Given the description of an element on the screen output the (x, y) to click on. 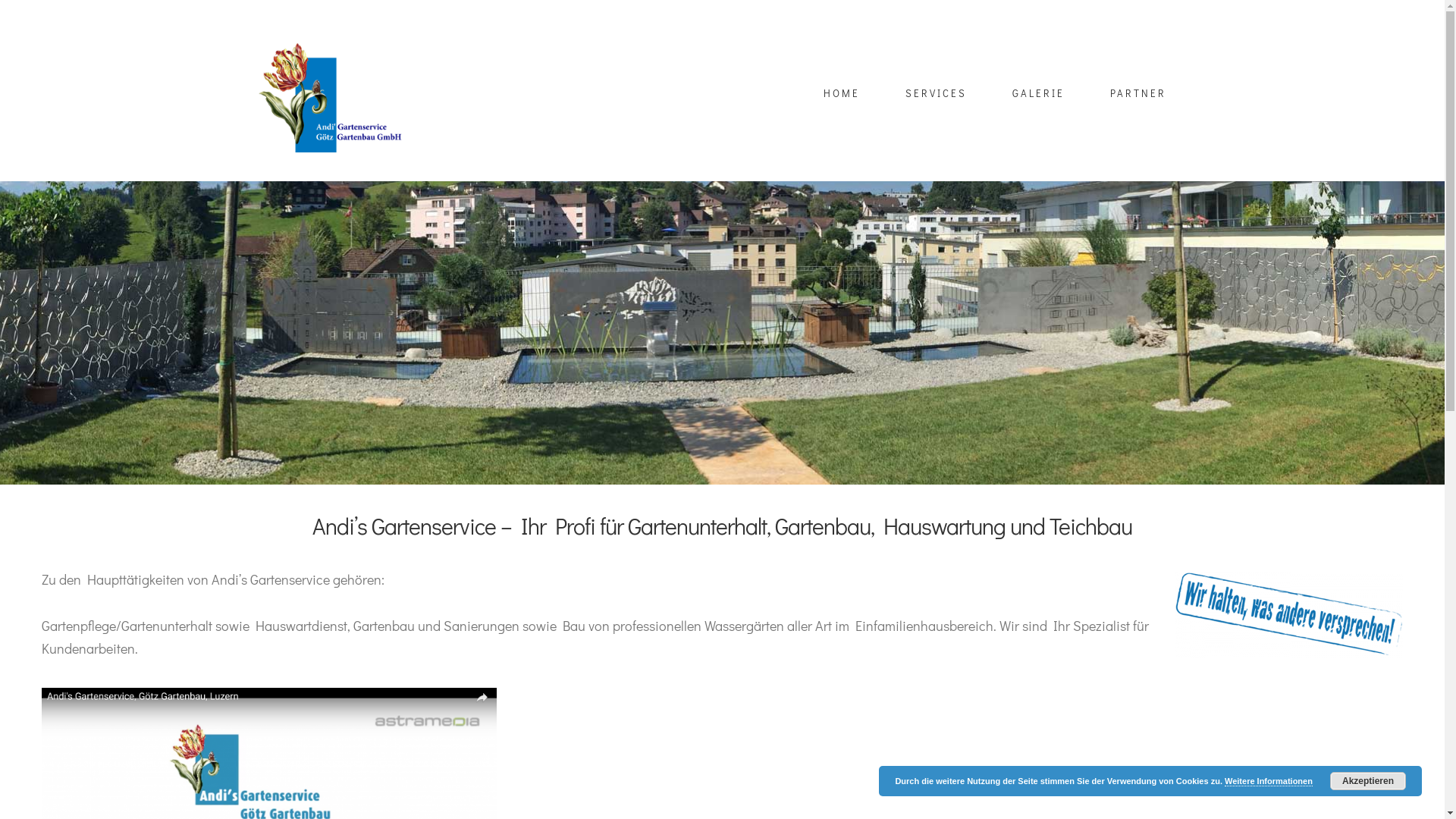
Weitere Informationen Element type: text (1268, 781)
PARTNER Element type: text (1138, 93)
HOME Element type: text (841, 93)
GALERIE Element type: text (1038, 93)
SERVICES Element type: text (935, 93)
Akzeptieren Element type: text (1367, 780)
